Given the description of an element on the screen output the (x, y) to click on. 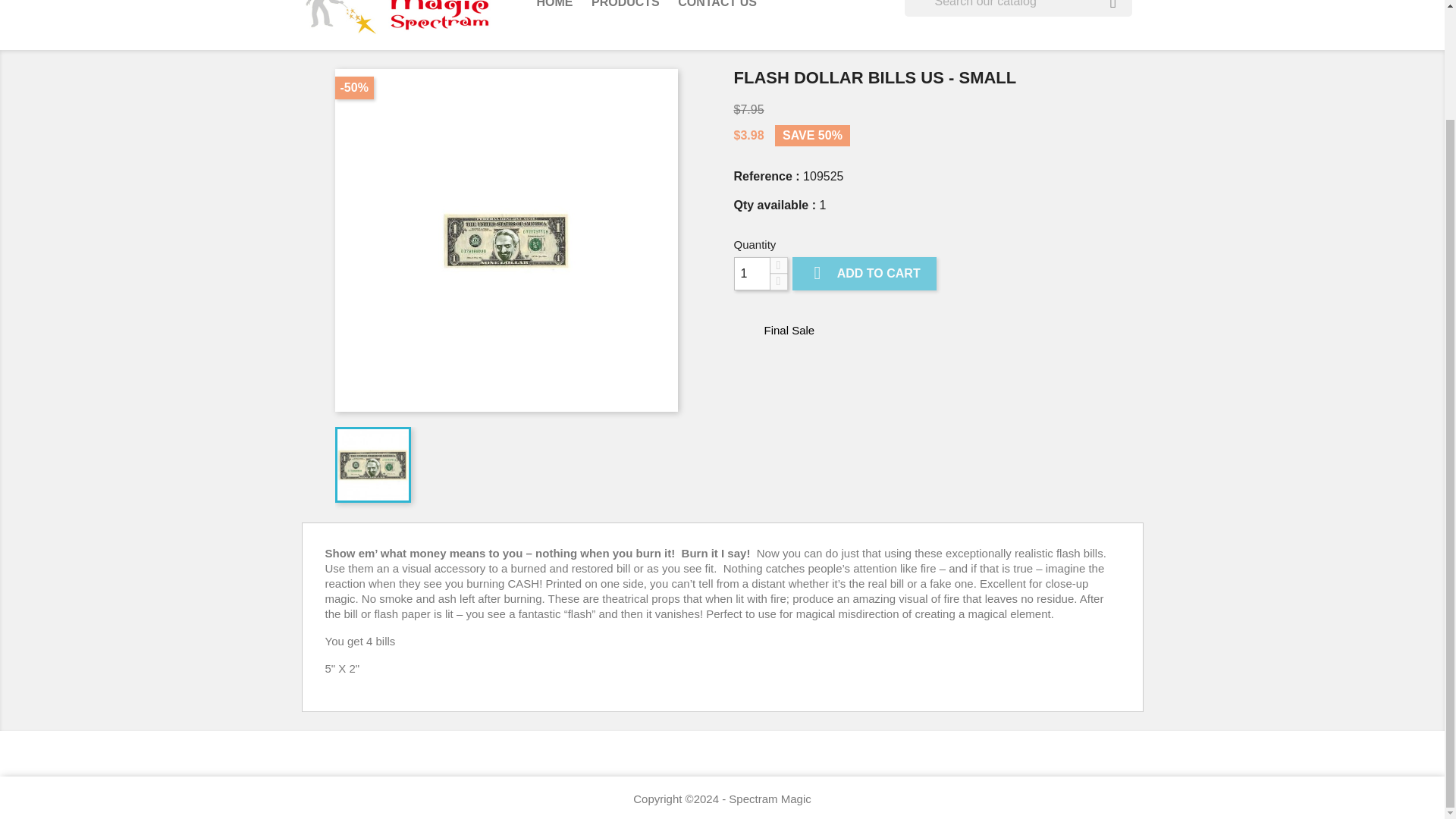
Flash Dollar Bills US small (506, 239)
Flash Dollar Bills US small (372, 464)
PRODUCTS (624, 7)
CONTACT US (716, 7)
HOME (554, 7)
1 (751, 273)
